Given the description of an element on the screen output the (x, y) to click on. 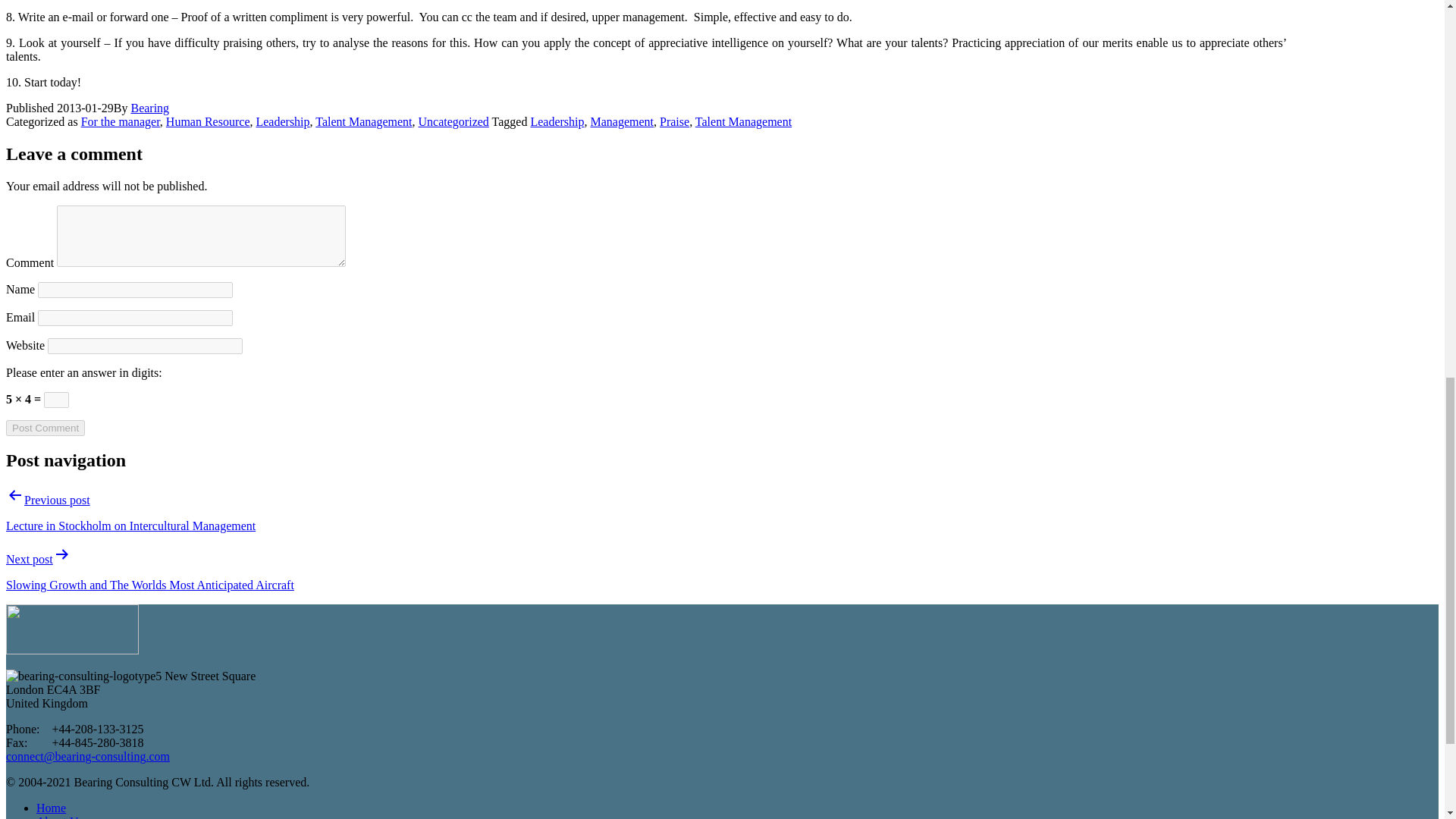
About Us (59, 816)
Praise (673, 121)
Post Comment (44, 427)
Human Resource (207, 121)
Leadership (282, 121)
For the manager (120, 121)
Talent Management (363, 121)
Bearing (149, 107)
Talent Management (743, 121)
Home (50, 807)
